Given the description of an element on the screen output the (x, y) to click on. 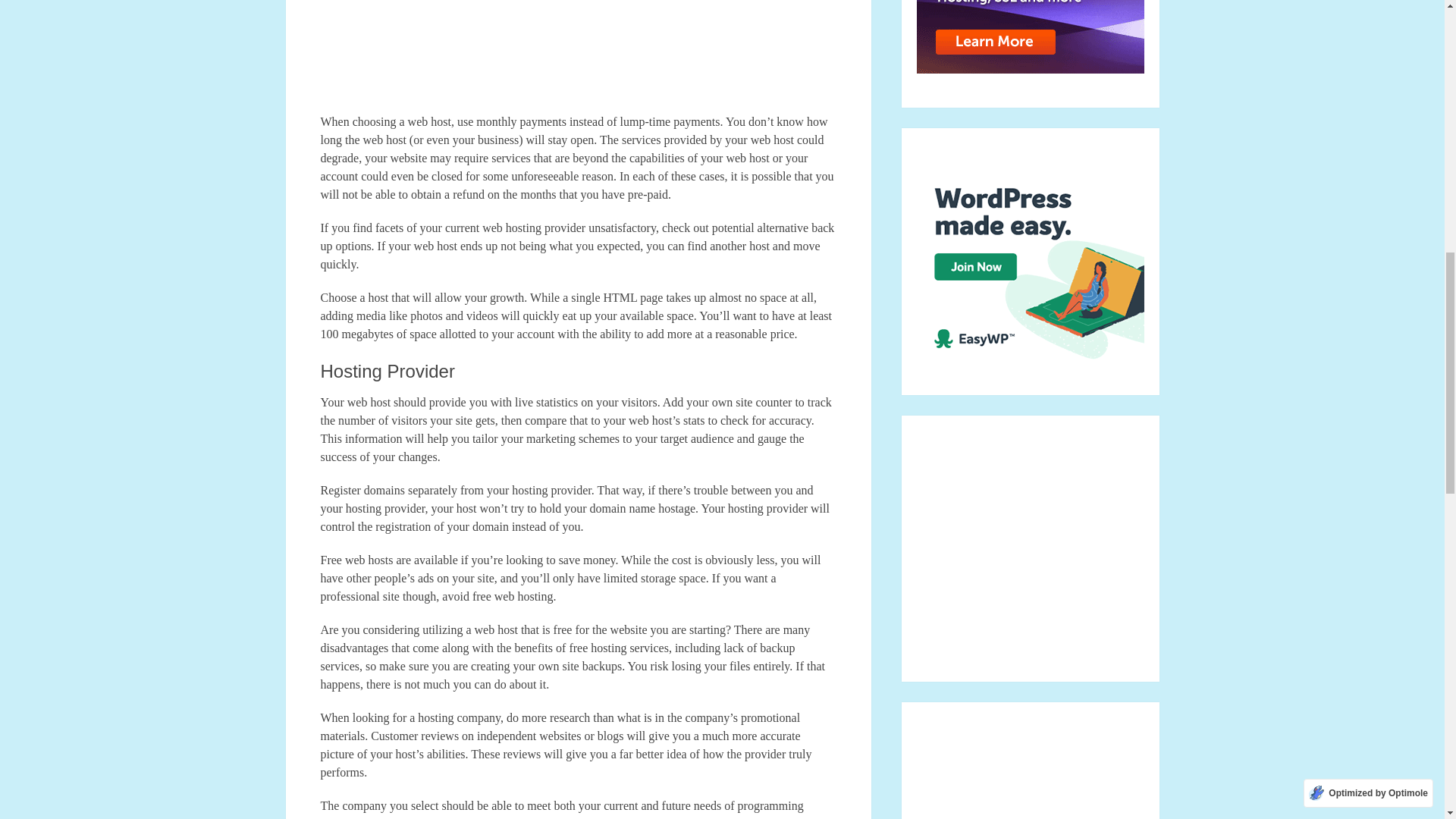
Advertisement (577, 56)
